Given the description of an element on the screen output the (x, y) to click on. 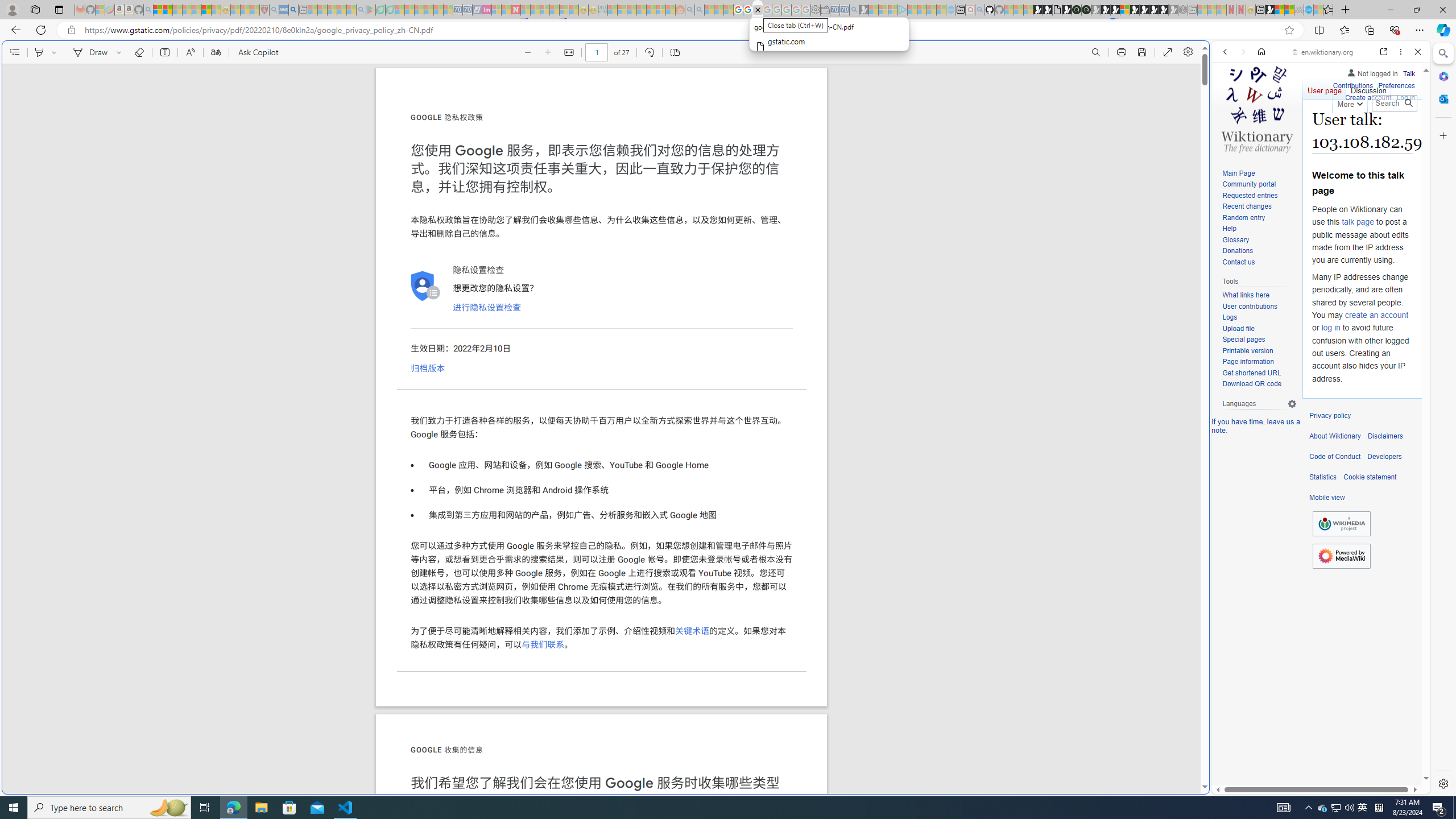
Search Wiktionary (1393, 103)
Search Filter, Search Tools (1350, 129)
Highlight (39, 52)
google_privacy_policy_zh-CN.pdf (757, 9)
User page (1324, 87)
Random entry (1243, 216)
SEARCH TOOLS (1350, 130)
